Given the description of an element on the screen output the (x, y) to click on. 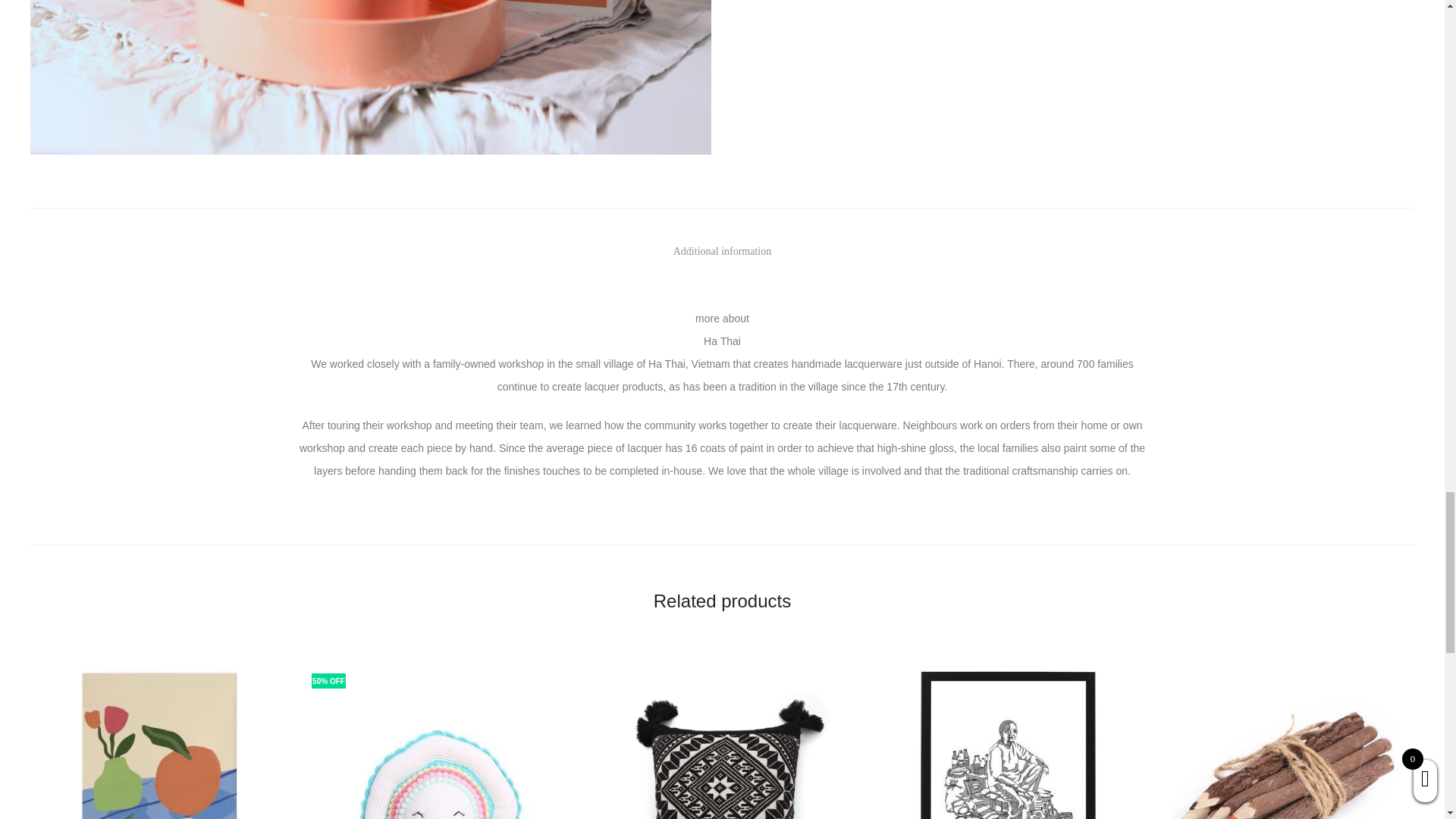
CL8A6374 copy (370, 77)
